Given the description of an element on the screen output the (x, y) to click on. 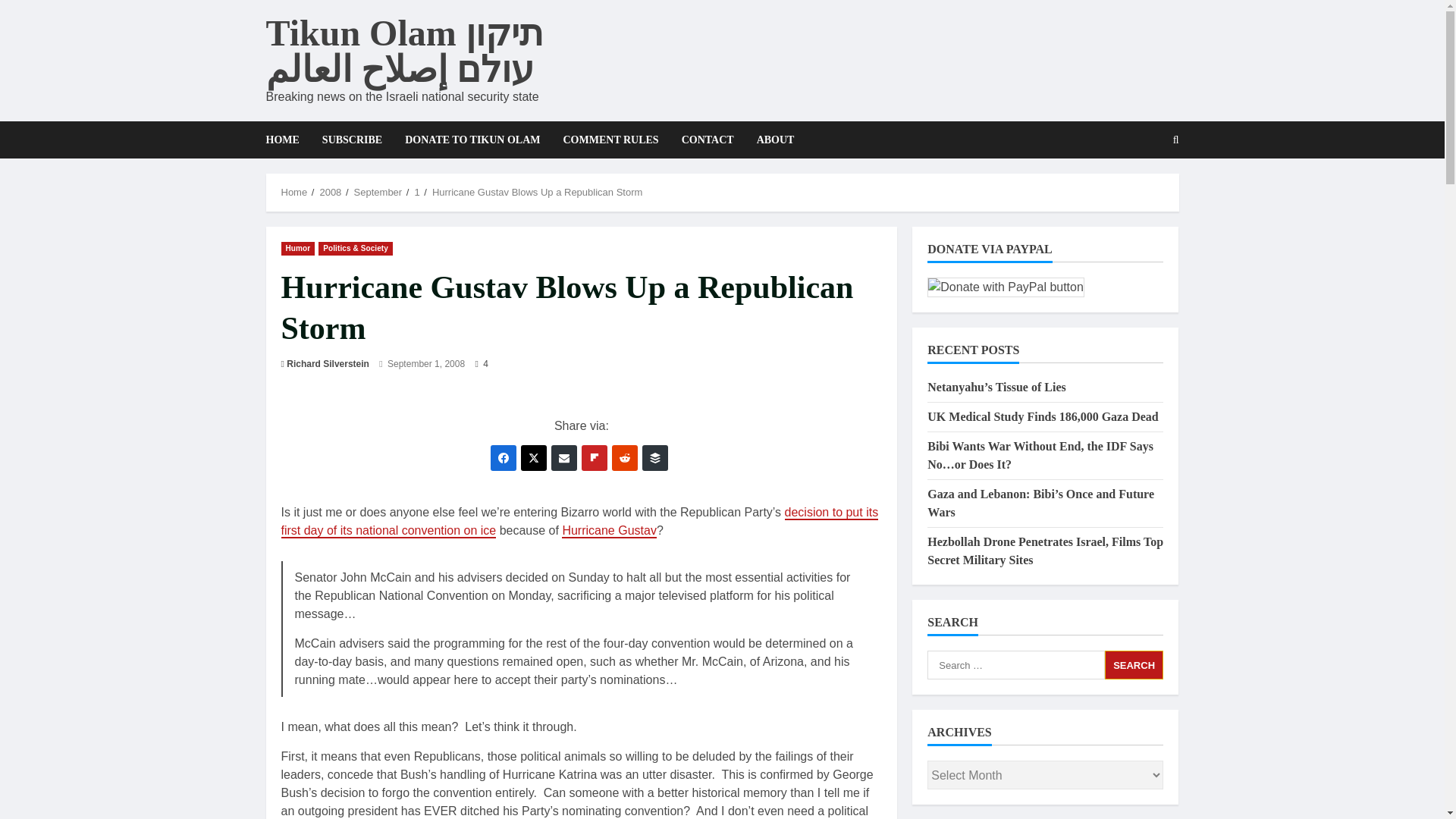
HOME (287, 139)
Hurricane Gustav (609, 531)
Search (1139, 191)
PayPal - The safer, easier way to pay online! (1005, 287)
CONTACT (707, 139)
Search (1134, 664)
Humor (297, 247)
ABOUT (769, 139)
Richard Silverstein (327, 364)
